Given the description of an element on the screen output the (x, y) to click on. 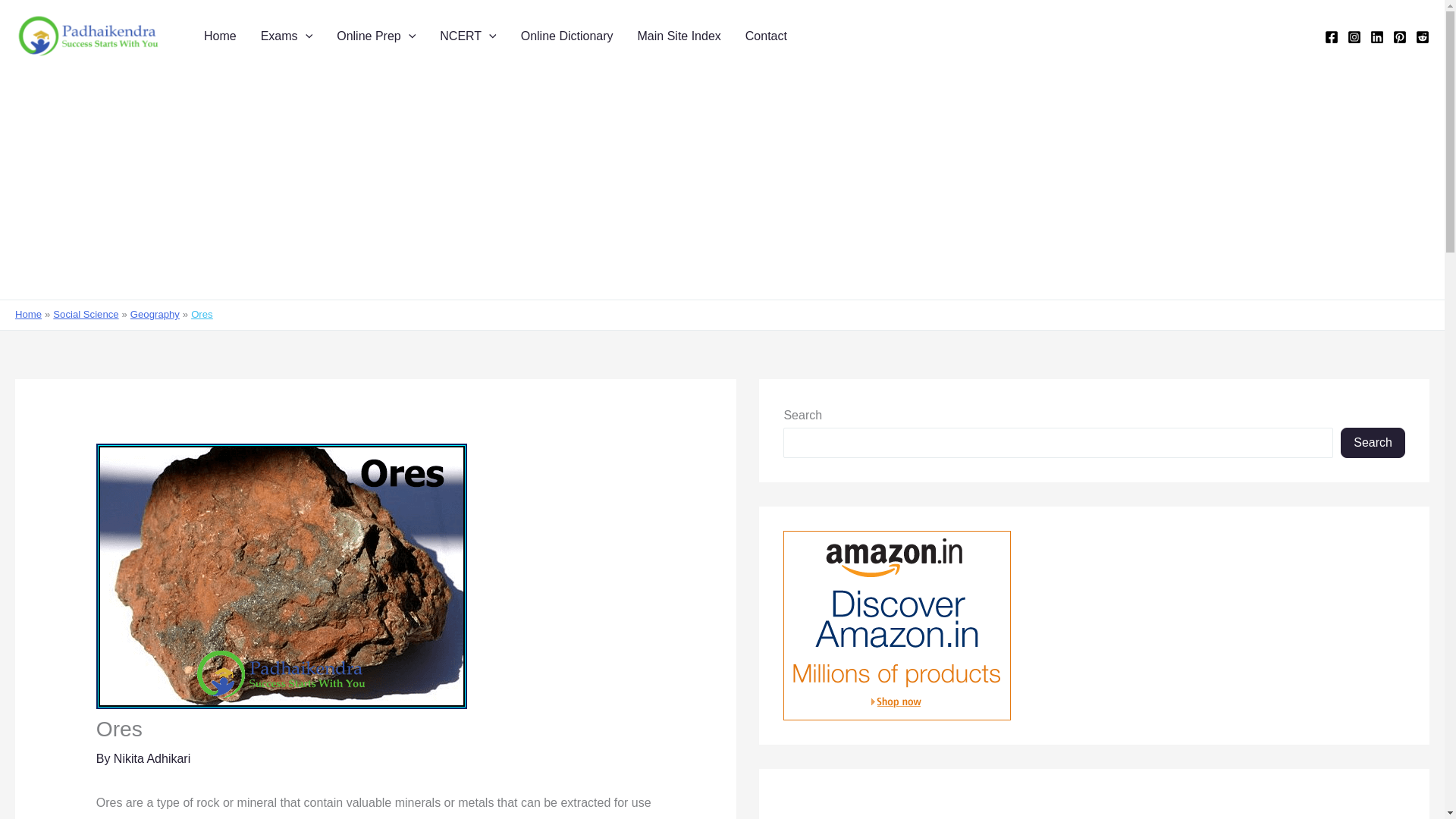
Exams (286, 35)
Online Prep (376, 35)
Home (220, 35)
View all posts by Nikita Adhikari (151, 758)
